Given the description of an element on the screen output the (x, y) to click on. 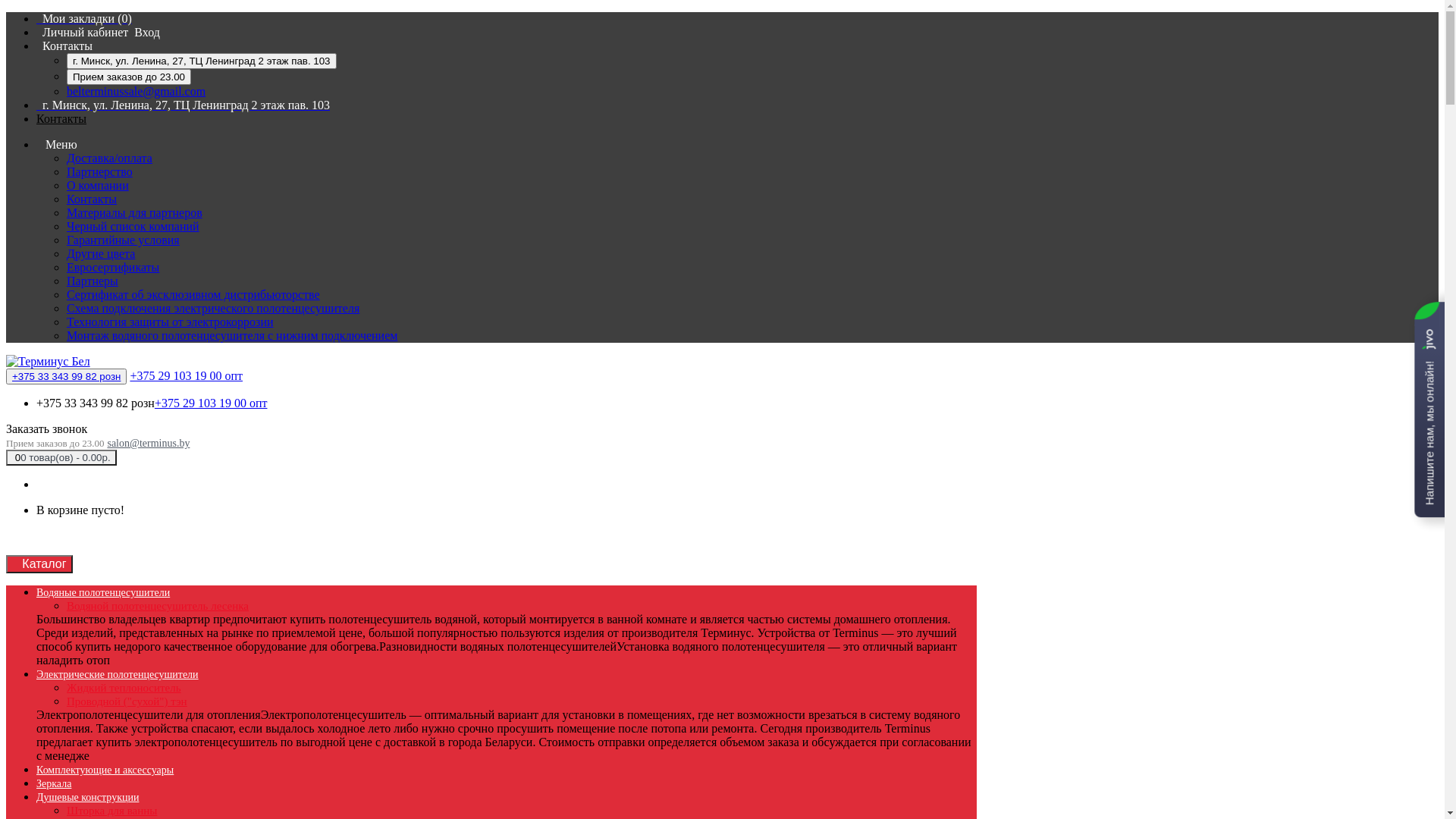
belterminussale@gmail.com Element type: text (135, 90)
salon@terminus.by Element type: text (147, 442)
